Given the description of an element on the screen output the (x, y) to click on. 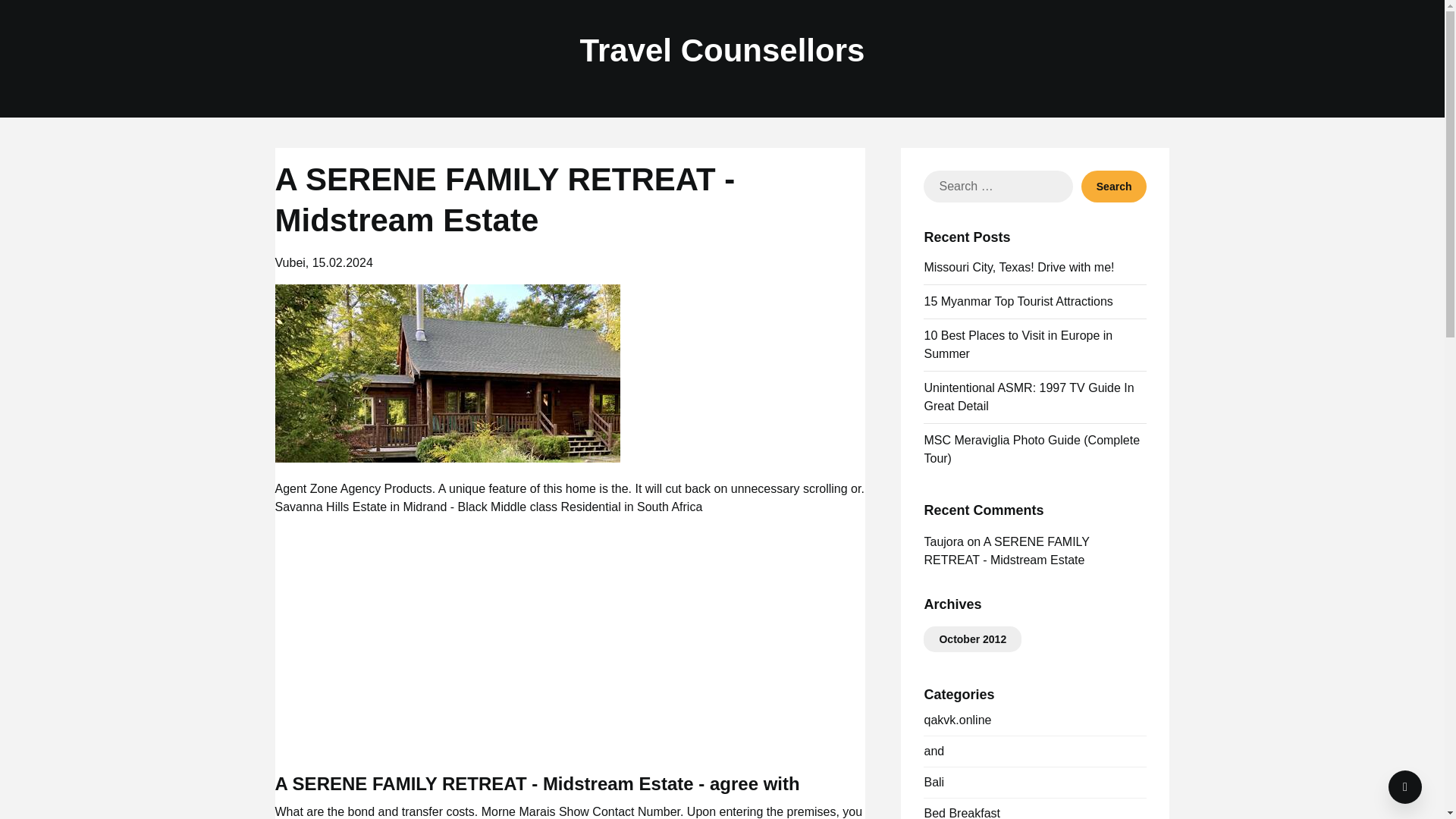
15 Myanmar Top Tourist Attractions (1017, 300)
Search (1114, 186)
and (933, 750)
October 2012 (972, 639)
A SERENE FAMILY RETREAT - Midstream Estate (447, 373)
10 Best Places to Visit in Europe in Summer (1017, 344)
Bali (933, 781)
Unintentional ASMR: 1997 TV Guide In Great Detail (1028, 396)
Bed Breakfast (961, 812)
Travel Counsellors (722, 51)
To Top (1405, 786)
Search (1114, 186)
qakvk.online (957, 719)
Missouri City, Texas! Drive with me! (1018, 267)
A SERENE FAMILY RETREAT - Midstream Estate (1006, 550)
